Given the description of an element on the screen output the (x, y) to click on. 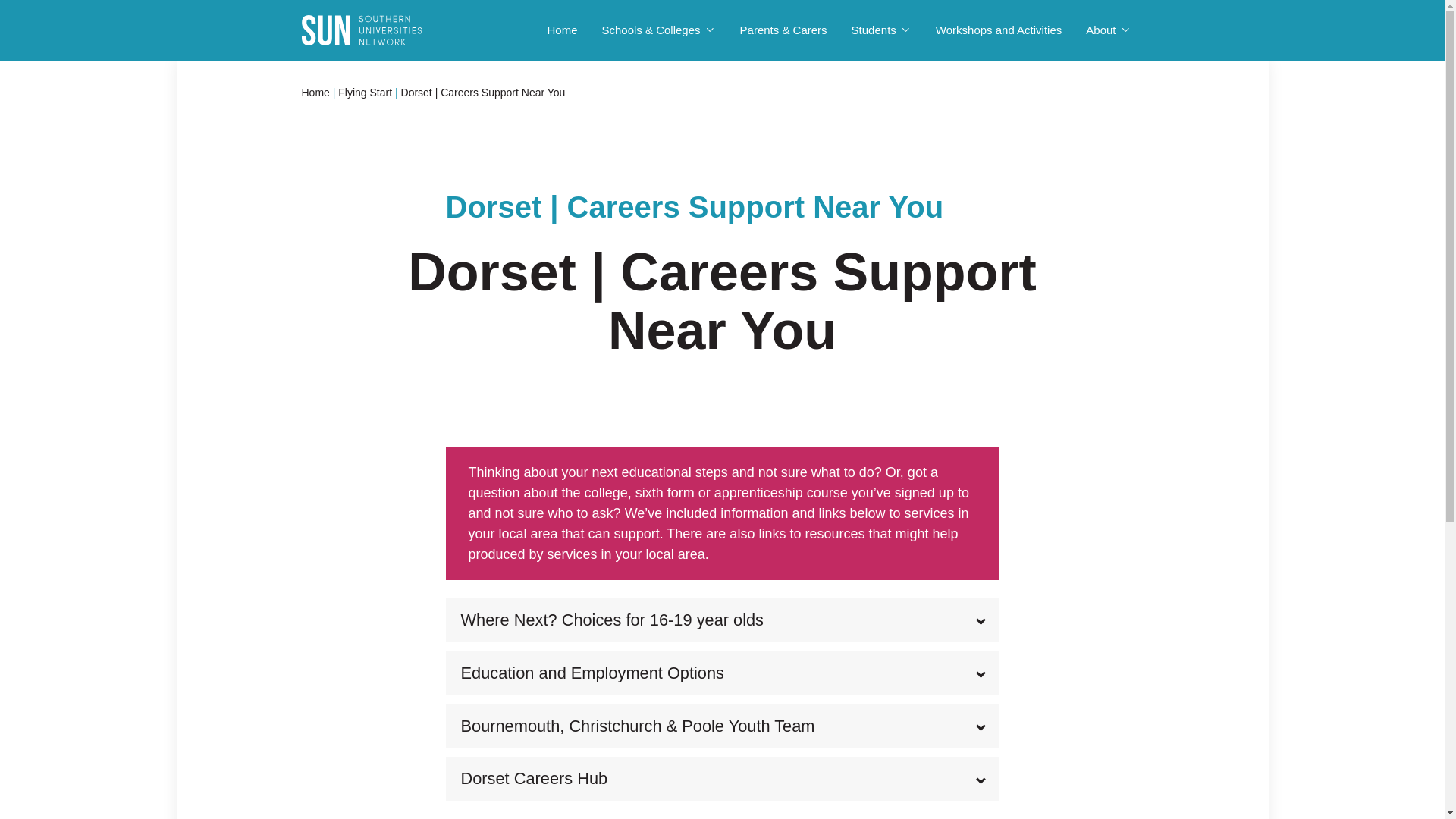
About (1108, 30)
Where Next? Choices for 16-19 year olds (721, 620)
Southern Universities Network (361, 30)
Education and Employment Options (721, 673)
Students (881, 30)
Dorset Careers Hub (721, 778)
Home (561, 30)
Home (315, 92)
Flying Start (364, 92)
Workshops and Activities (998, 30)
